Given the description of an element on the screen output the (x, y) to click on. 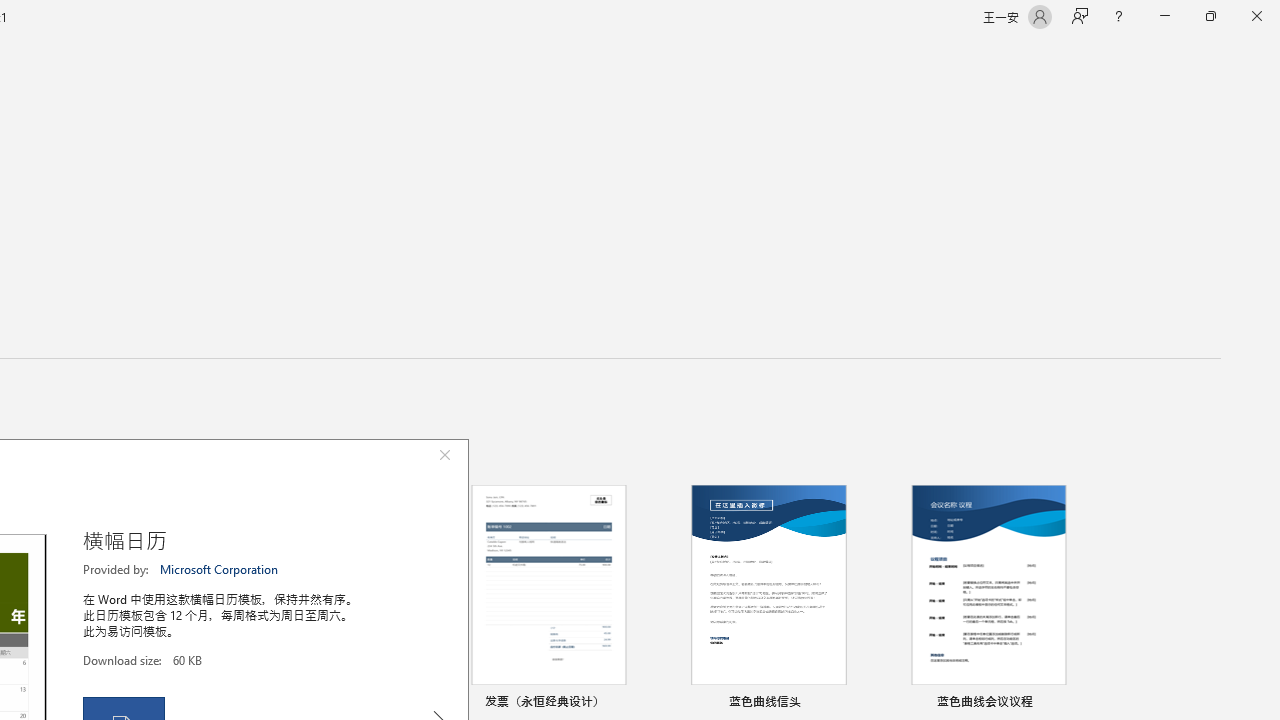
Microsoft Corporation (220, 569)
Pin to list (1075, 703)
